Given the description of an element on the screen output the (x, y) to click on. 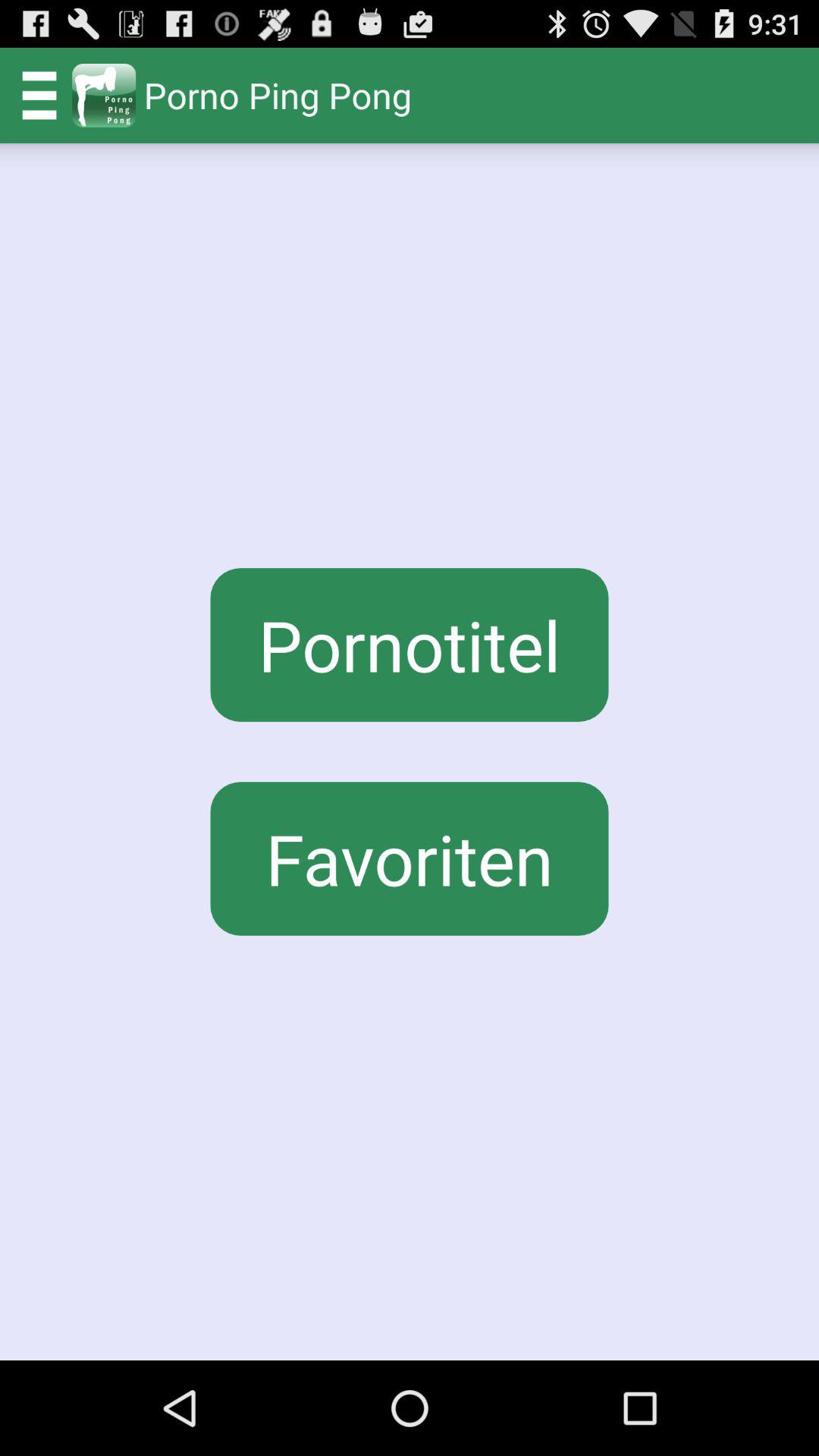
click item below the pornotitel (409, 858)
